Given the description of an element on the screen output the (x, y) to click on. 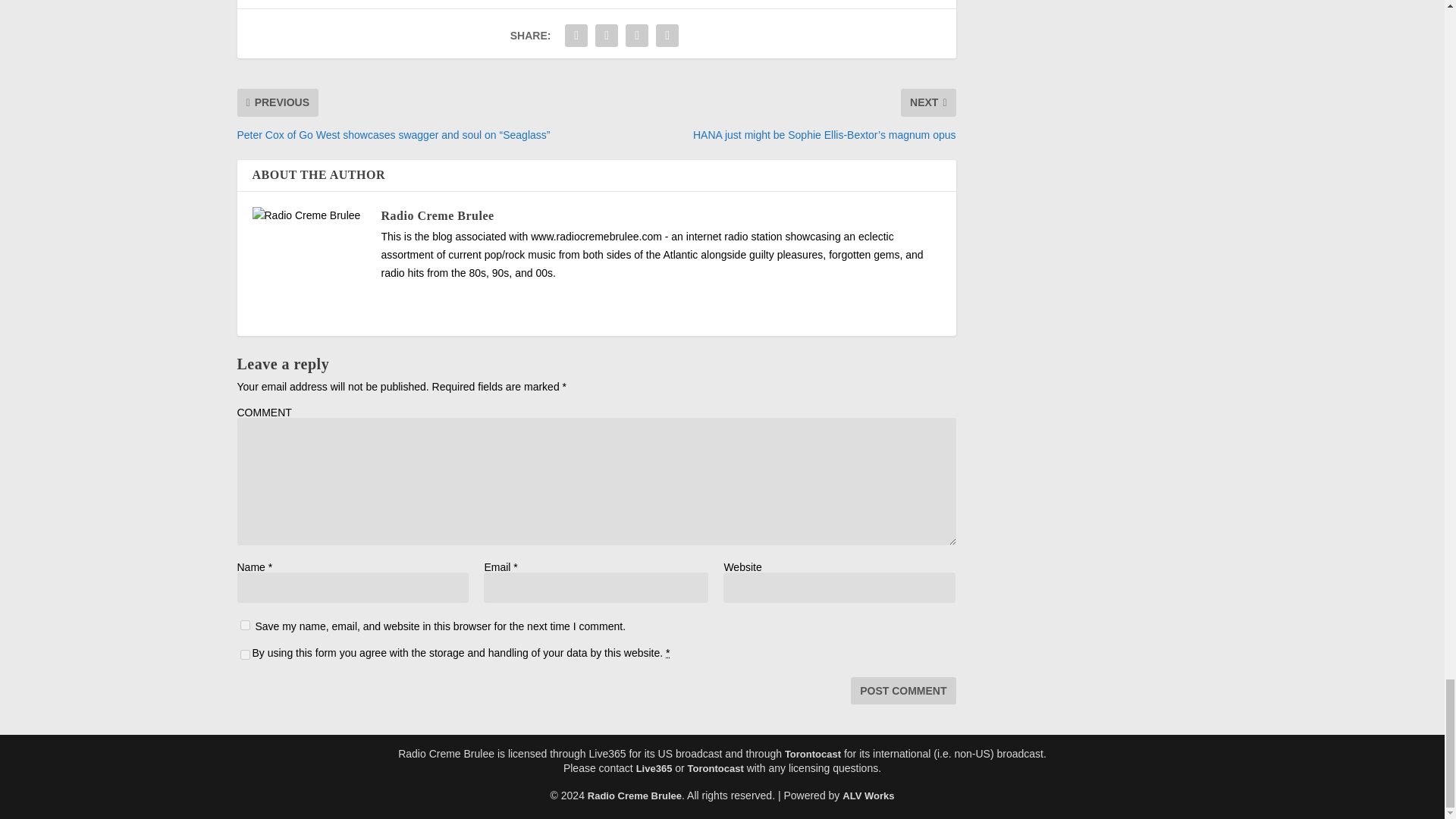
yes (244, 624)
View all posts by Radio Creme Brulee (436, 215)
1 (244, 655)
Post Comment (902, 690)
